Given the description of an element on the screen output the (x, y) to click on. 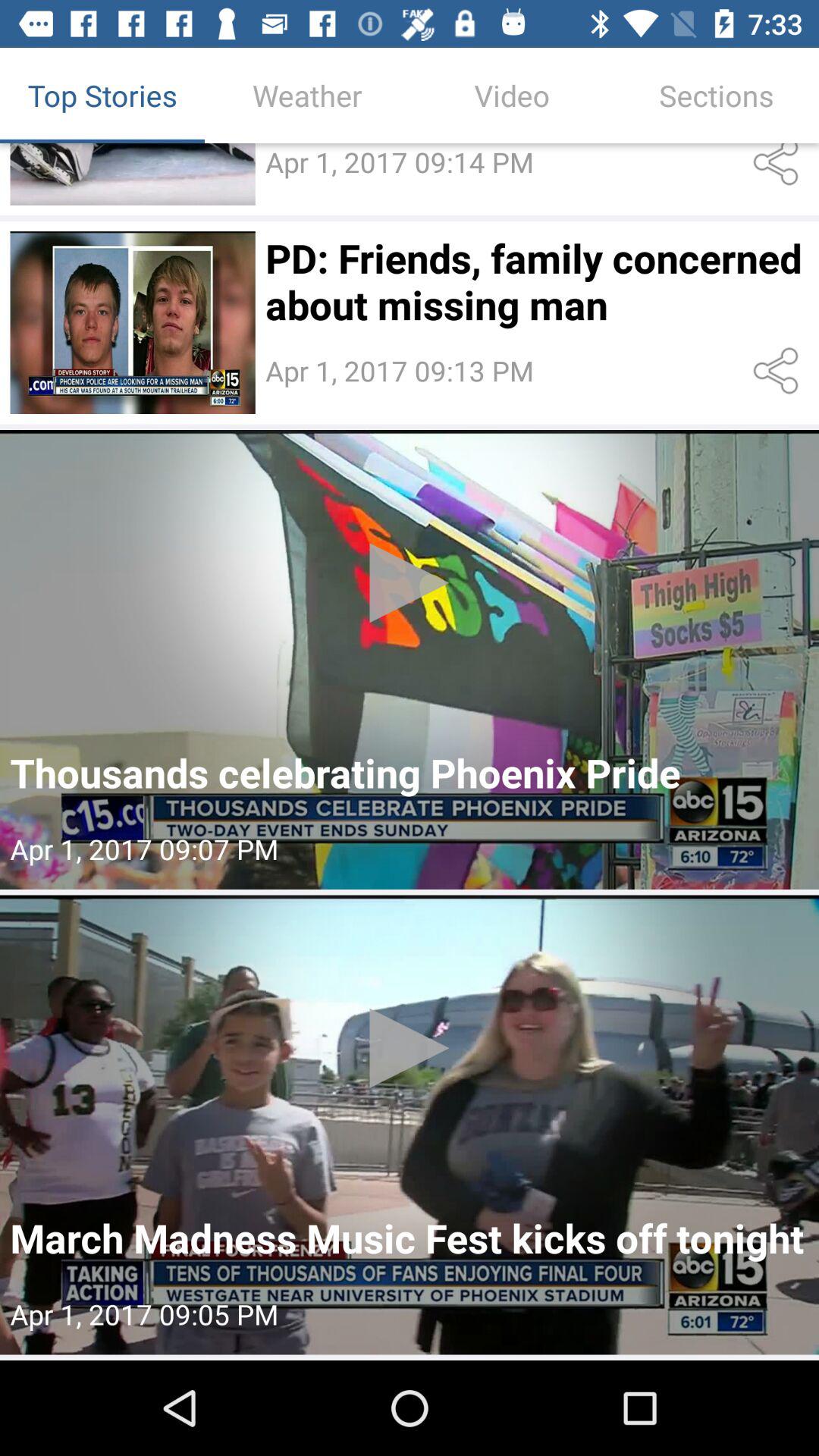
share (778, 167)
